Given the description of an element on the screen output the (x, y) to click on. 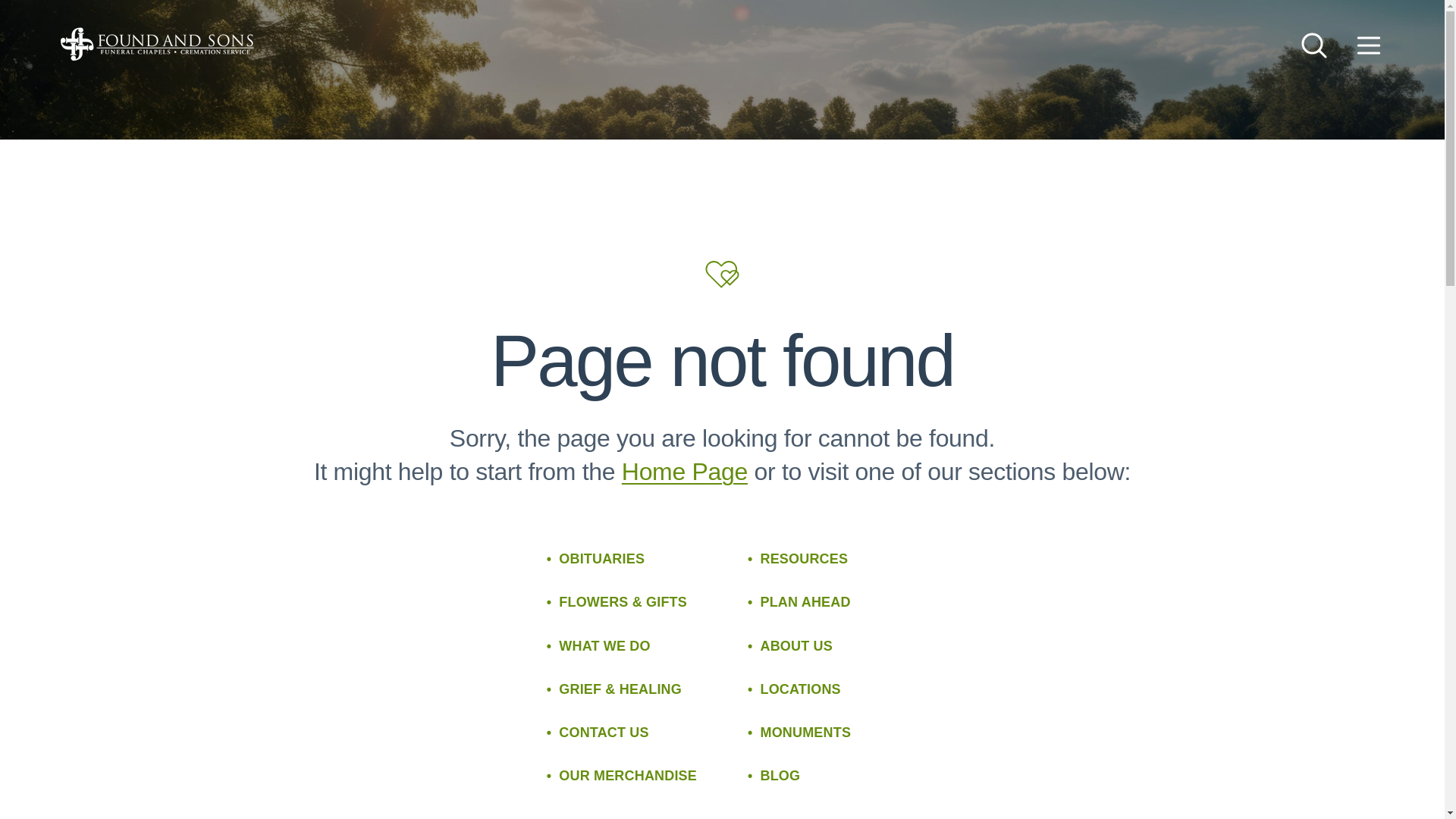
OBITUARIES (596, 558)
WHAT WE DO (598, 646)
RESOURCES (797, 558)
LOCATIONS (794, 689)
BLOG (773, 775)
ABOUT US (790, 646)
PLAN AHEAD (799, 601)
Home Page (684, 471)
OUR MERCHANDISE (622, 775)
MONUMENTS (799, 732)
